Given the description of an element on the screen output the (x, y) to click on. 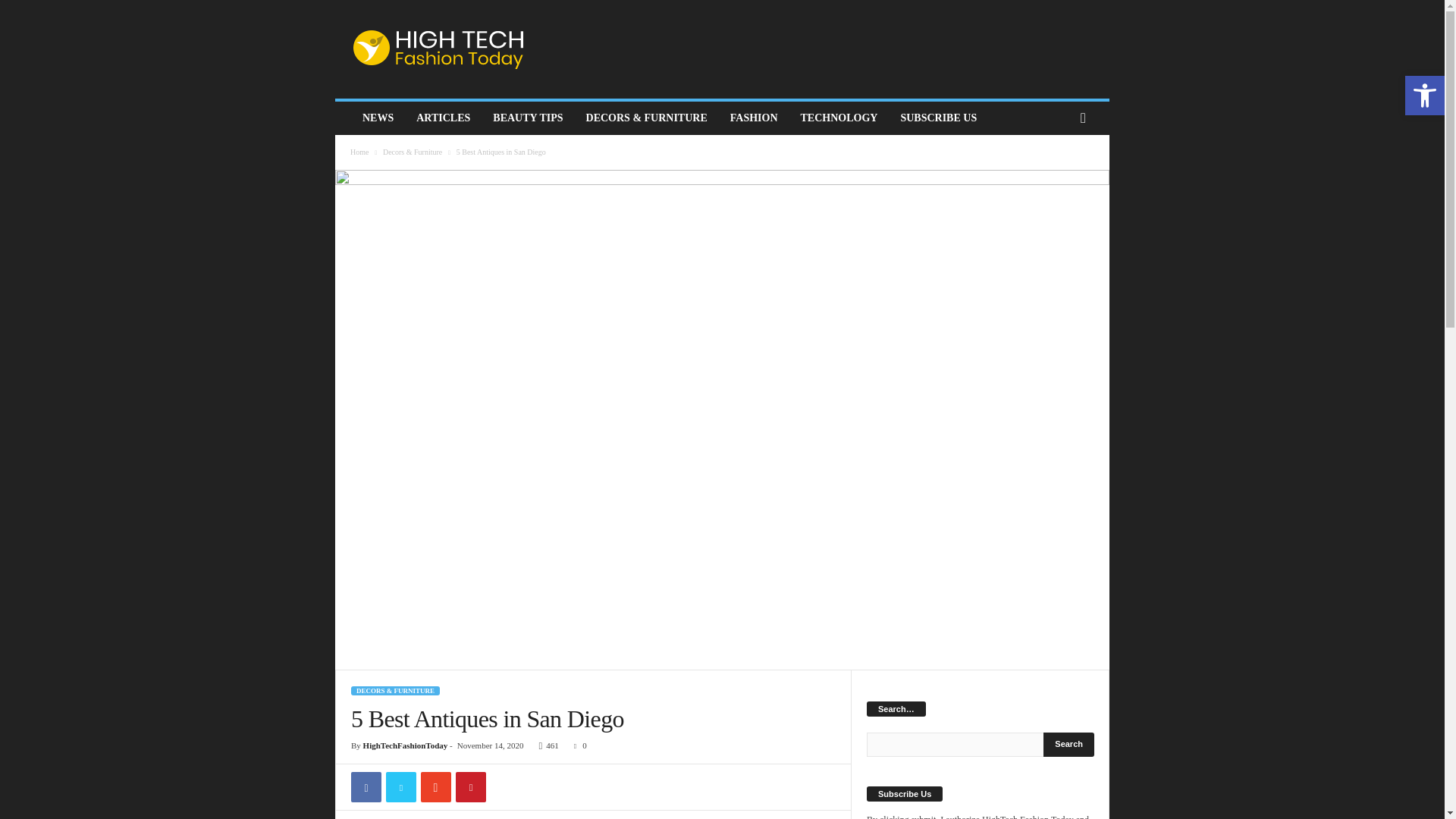
ARTICLES (442, 118)
Home (359, 152)
HighTech Fashion Today (437, 48)
Accessibility Tools (1424, 95)
BEAUTY TIPS (527, 118)
Search (1068, 744)
NEWS (377, 118)
TECHNOLOGY (839, 118)
SUBSCRIBE US (938, 118)
FASHION (754, 118)
